Given the description of an element on the screen output the (x, y) to click on. 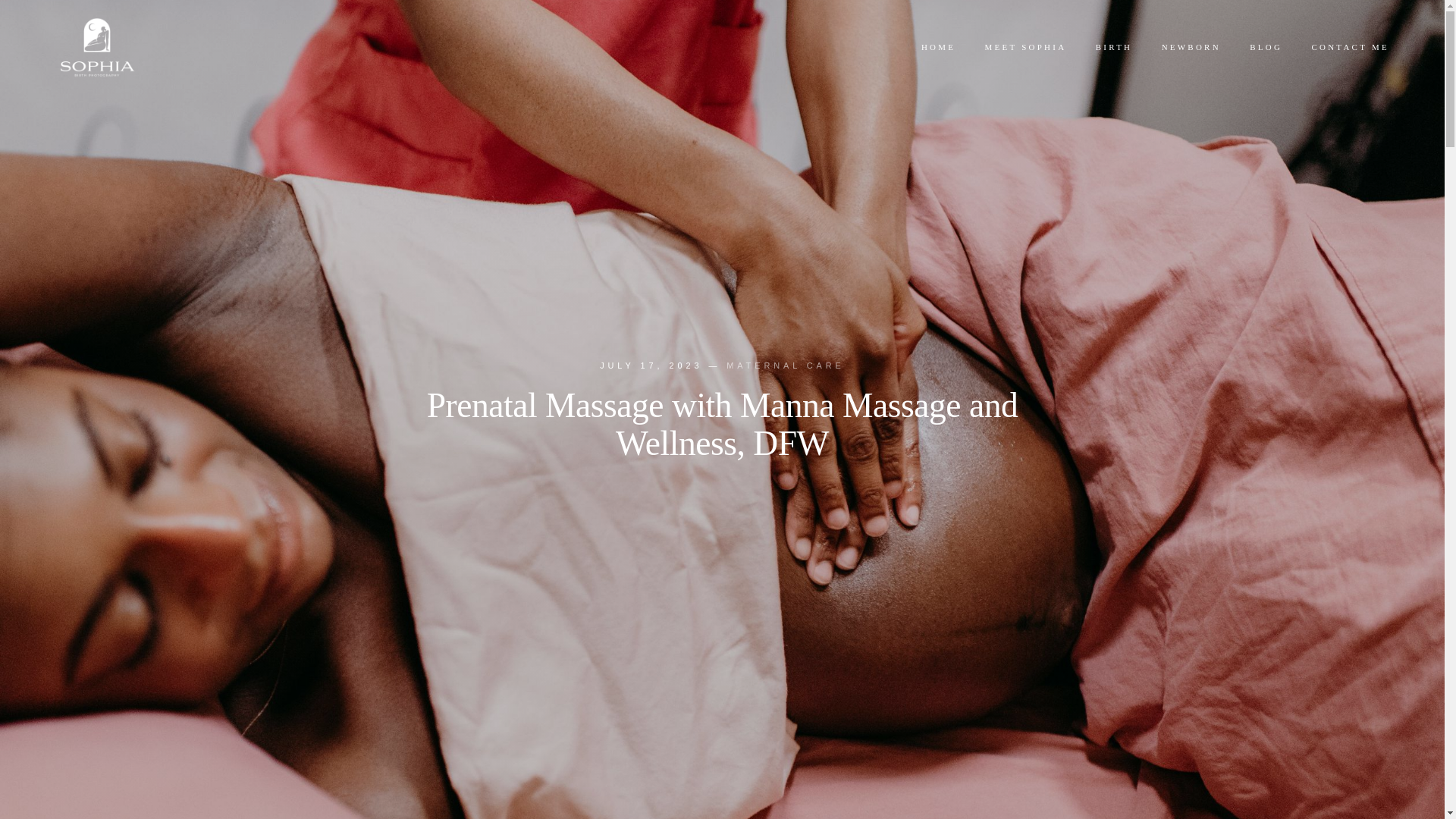
HOME (939, 47)
MEET SOPHIA (1024, 47)
MATERNAL CARE (785, 364)
CONTACT ME (1350, 47)
BLOG (1265, 47)
BIRTH (1114, 47)
NEWBORN (1190, 47)
